Given the description of an element on the screen output the (x, y) to click on. 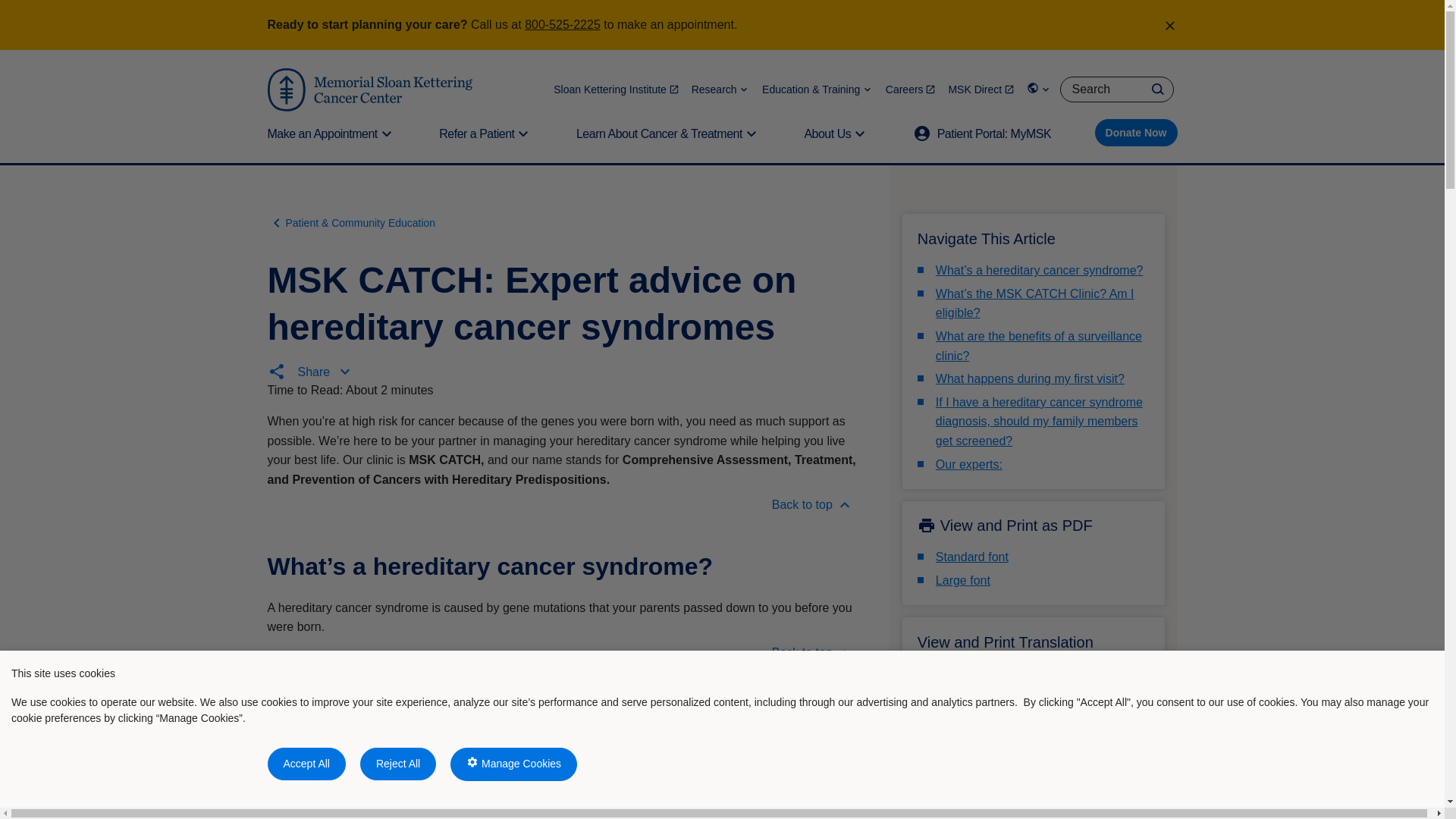
Sloan Kettering Institute (615, 89)
800-525-2225 (561, 24)
Donate Now (1135, 132)
Research (720, 89)
Manage Cookies (512, 764)
Insert a query. Press enter to send (1115, 88)
Accept All (305, 763)
Reject All (397, 763)
